Given the description of an element on the screen output the (x, y) to click on. 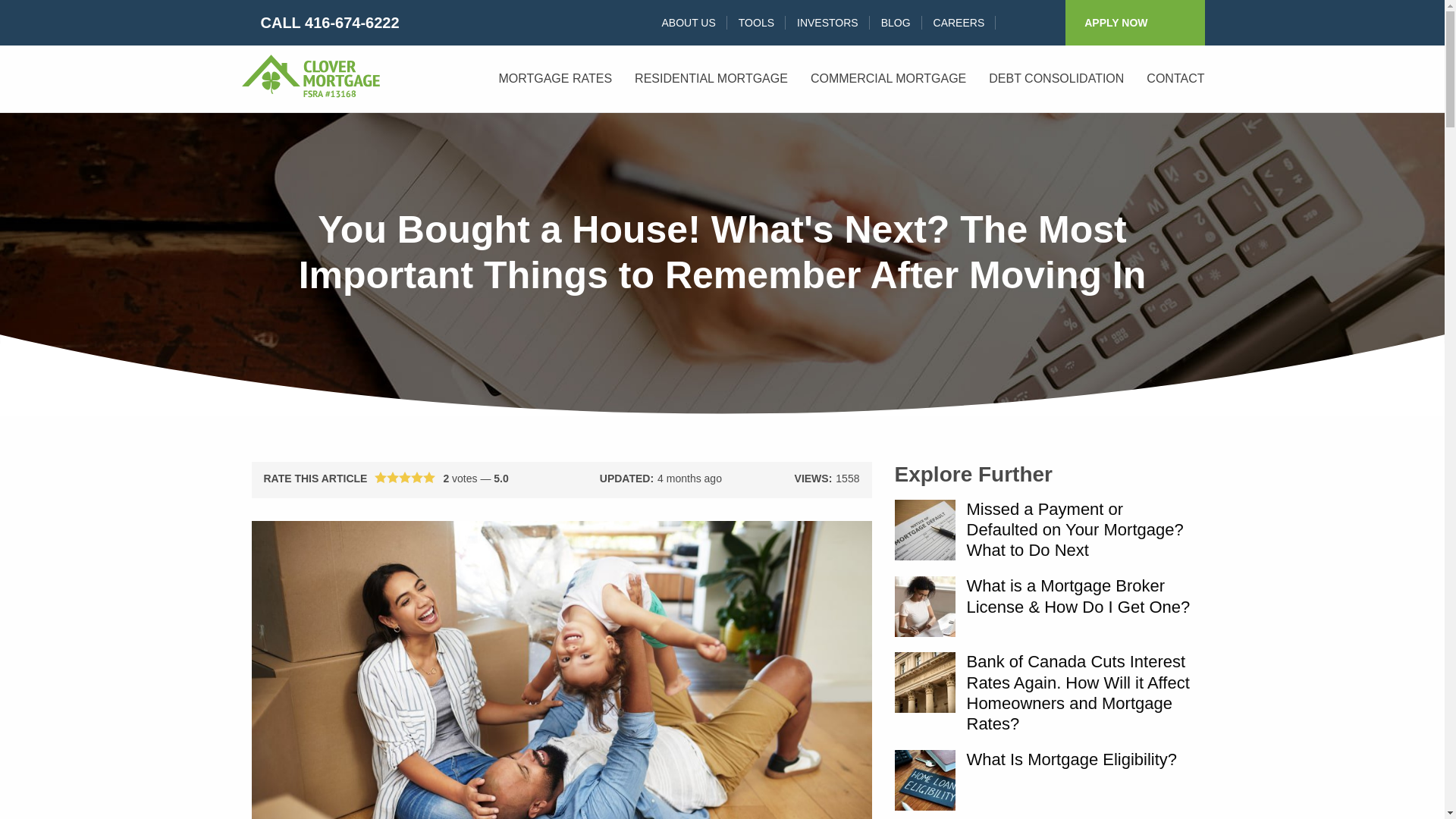
BLOG (895, 22)
ABOUT US (687, 22)
RESIDENTIAL MORTGAGE (711, 78)
CAREERS (958, 22)
TOOLS (756, 22)
CONTACT (1175, 78)
APPLY NOW (1134, 22)
CALL 416-674-6222 (319, 22)
